Given the description of an element on the screen output the (x, y) to click on. 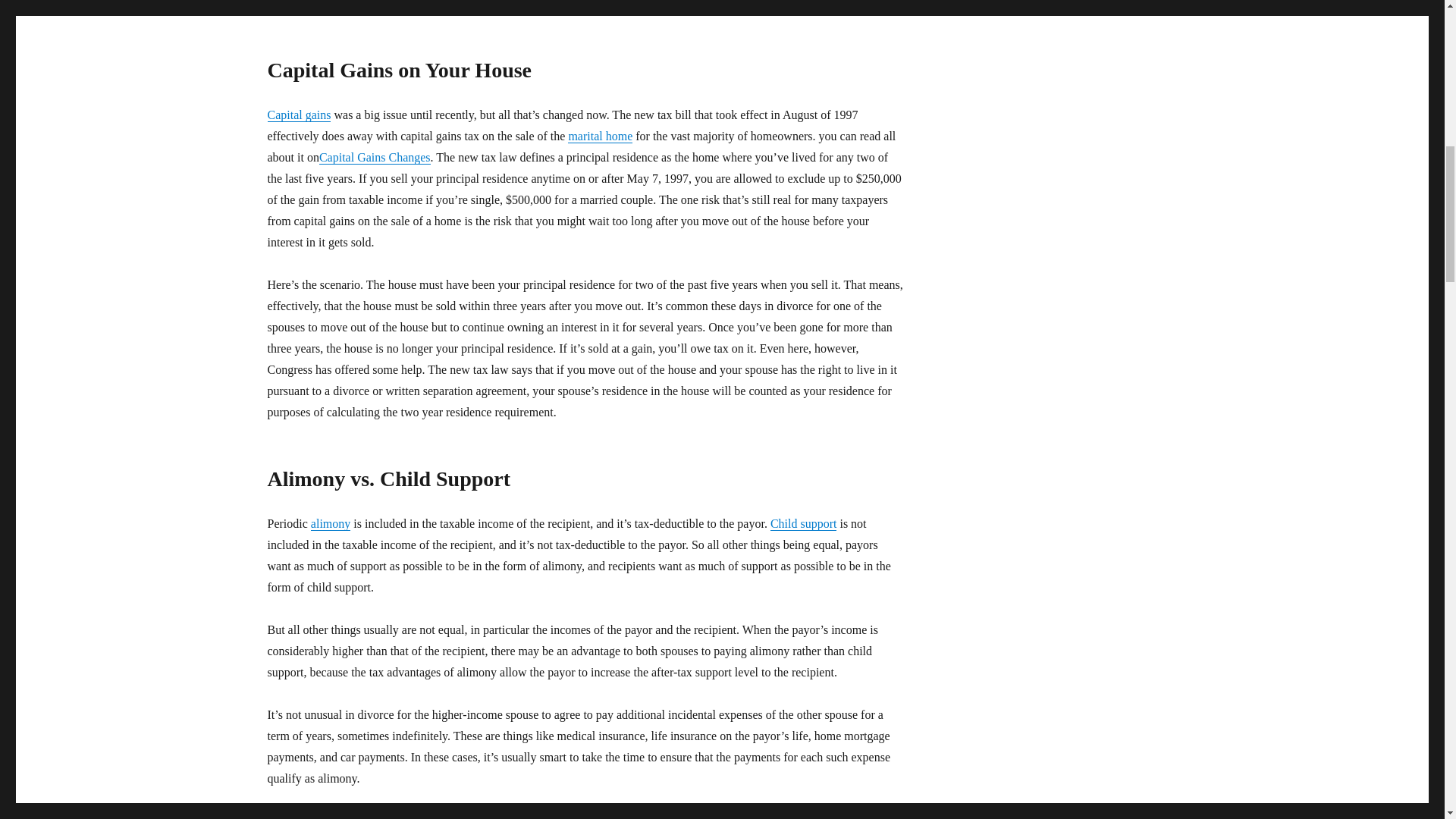
Capital gains (298, 114)
